Given the description of an element on the screen output the (x, y) to click on. 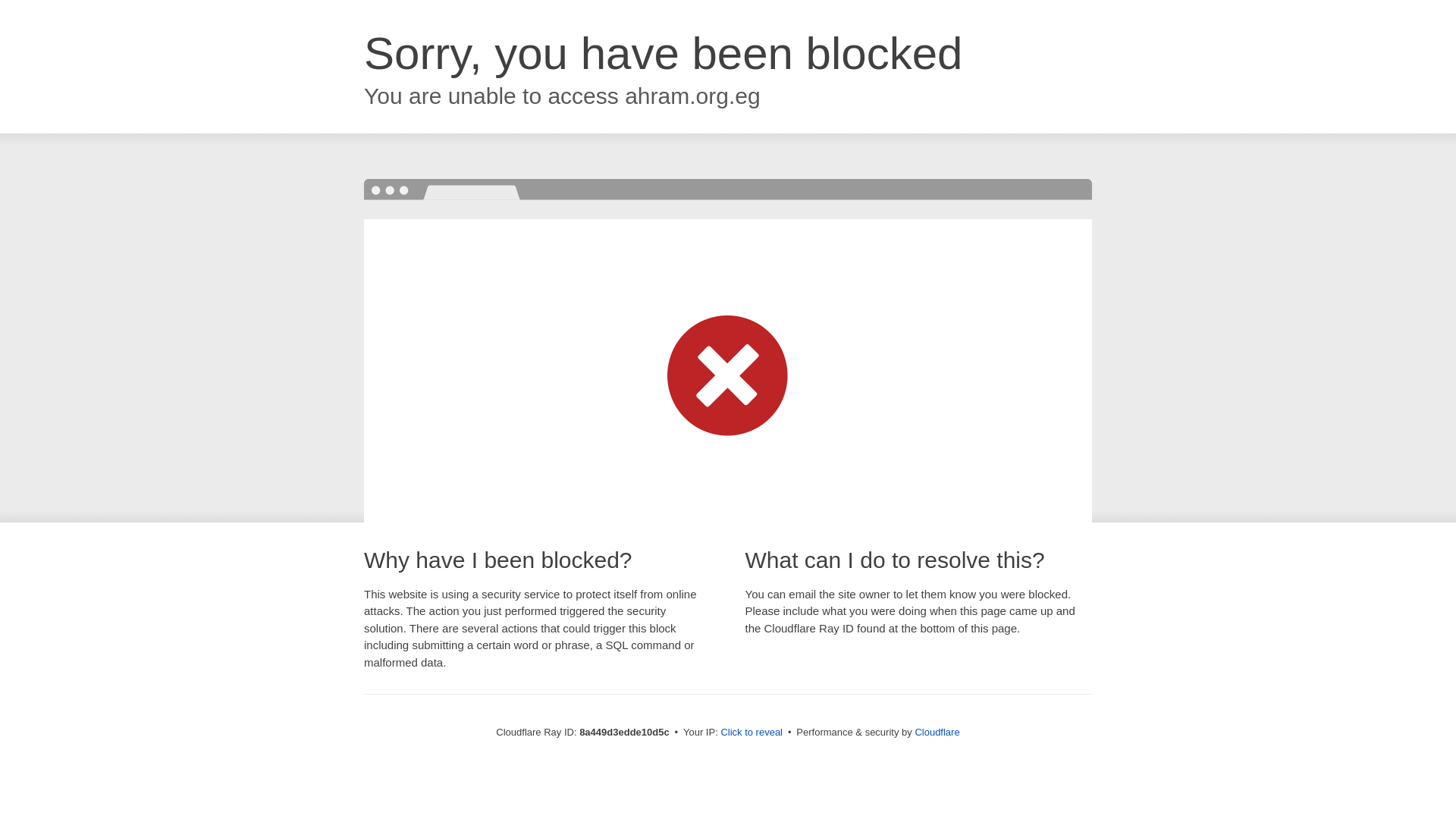
Click to reveal (751, 732)
Cloudflare (936, 731)
